Given the description of an element on the screen output the (x, y) to click on. 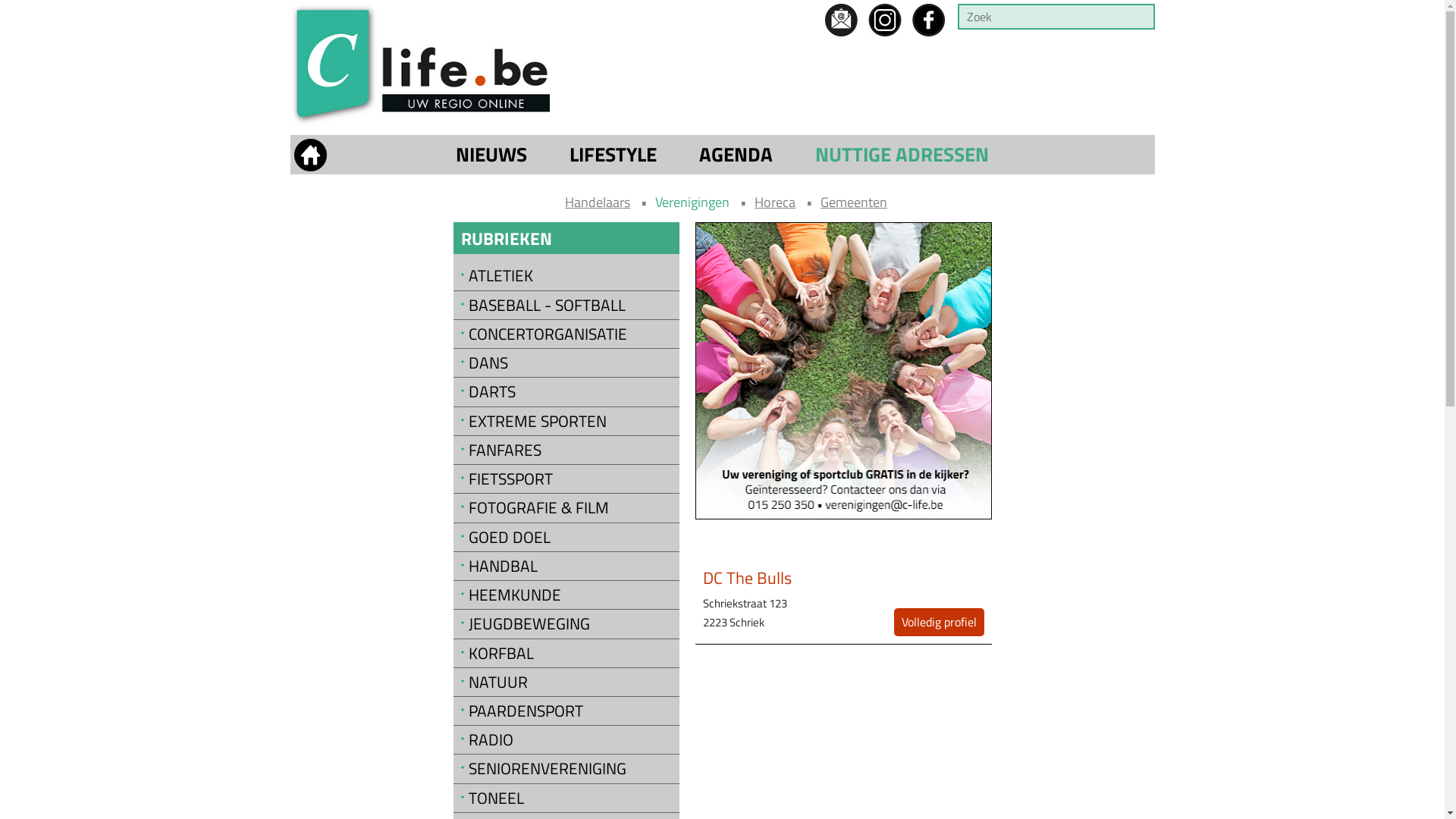
Gemeenten Element type: text (853, 201)
Horeca Element type: text (774, 201)
Handelaars Element type: text (597, 201)
PAARDENSPORT Element type: text (570, 710)
Volledig profiel Element type: text (938, 622)
DC The Bulls Element type: text (746, 577)
NIEUWS Element type: text (490, 154)
DARTS Element type: text (570, 391)
NUTTIGE ADRESSEN Element type: text (901, 154)
HEEMKUNDE Element type: text (570, 594)
FOTOGRAFIE & FILM Element type: text (570, 507)
ATLETIEK Element type: text (570, 275)
NATUUR Element type: text (570, 681)
FIETSSPORT Element type: text (570, 478)
TONEEL Element type: text (570, 797)
KORFBAL Element type: text (570, 653)
DANS Element type: text (570, 362)
AGENDA Element type: text (735, 154)
HANDBAL Element type: text (570, 565)
RADIO Element type: text (570, 739)
LIFESTYLE Element type: text (612, 154)
Verenigingen Element type: text (692, 201)
BASEBALL - SOFTBALL Element type: text (570, 304)
GOED DOEL Element type: text (570, 537)
SENIORENVERENIGING Element type: text (570, 768)
FANFARES Element type: text (570, 449)
CONCERTORGANISATIE Element type: text (570, 333)
EXTREME SPORTEN Element type: text (570, 421)
JEUGDBEWEGING Element type: text (570, 623)
